Given the description of an element on the screen output the (x, y) to click on. 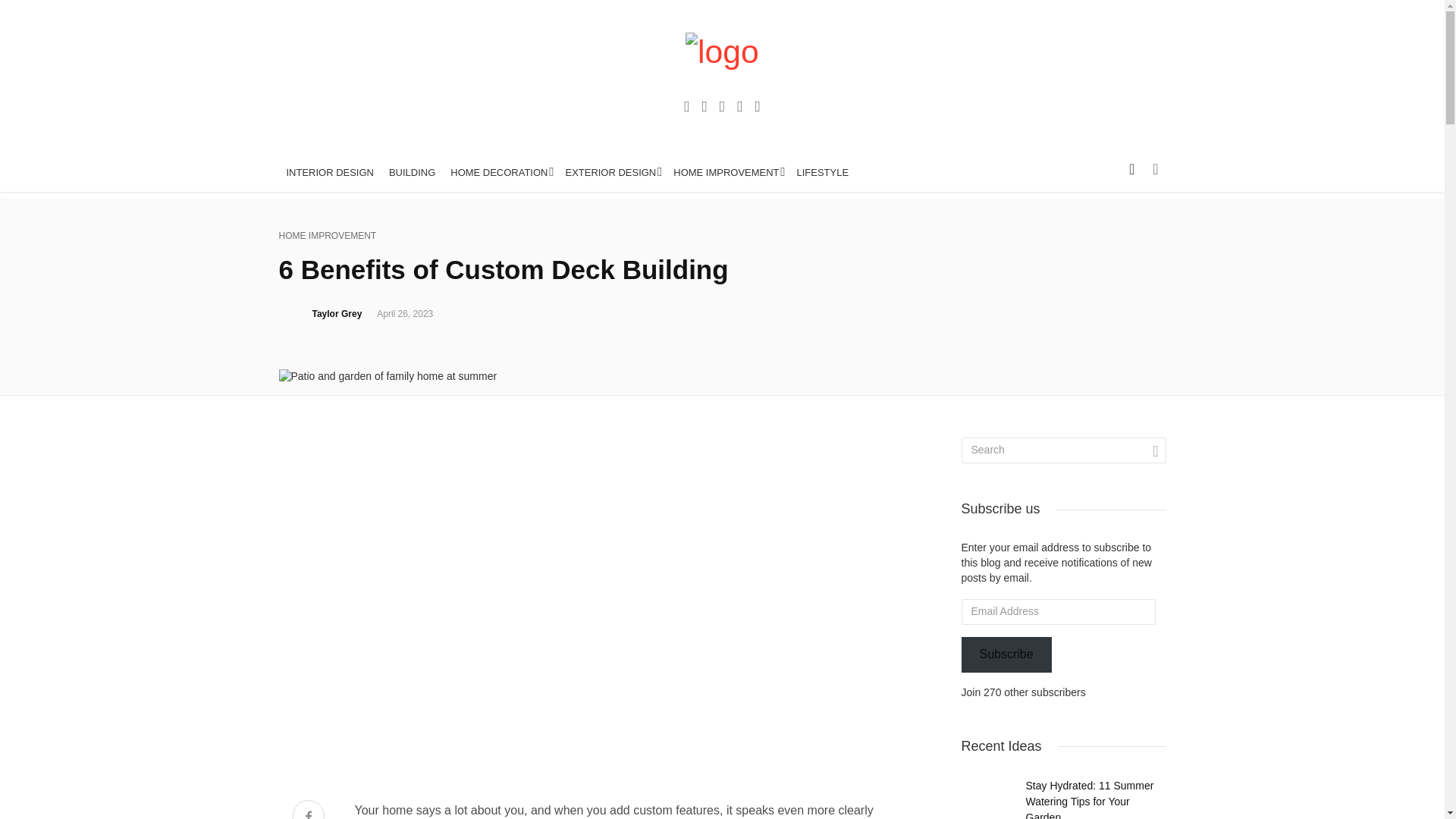
HOME DECORATION (499, 172)
EXTERIOR DESIGN (611, 172)
Taylor Grey (337, 313)
HOME IMPROVEMENT (727, 172)
BUILDING (411, 172)
April 26, 2023 at 8:50 pm (404, 313)
LIFESTYLE (823, 172)
Share on Facebook (308, 809)
HOME IMPROVEMENT (328, 236)
INTERIOR DESIGN (330, 172)
